Given the description of an element on the screen output the (x, y) to click on. 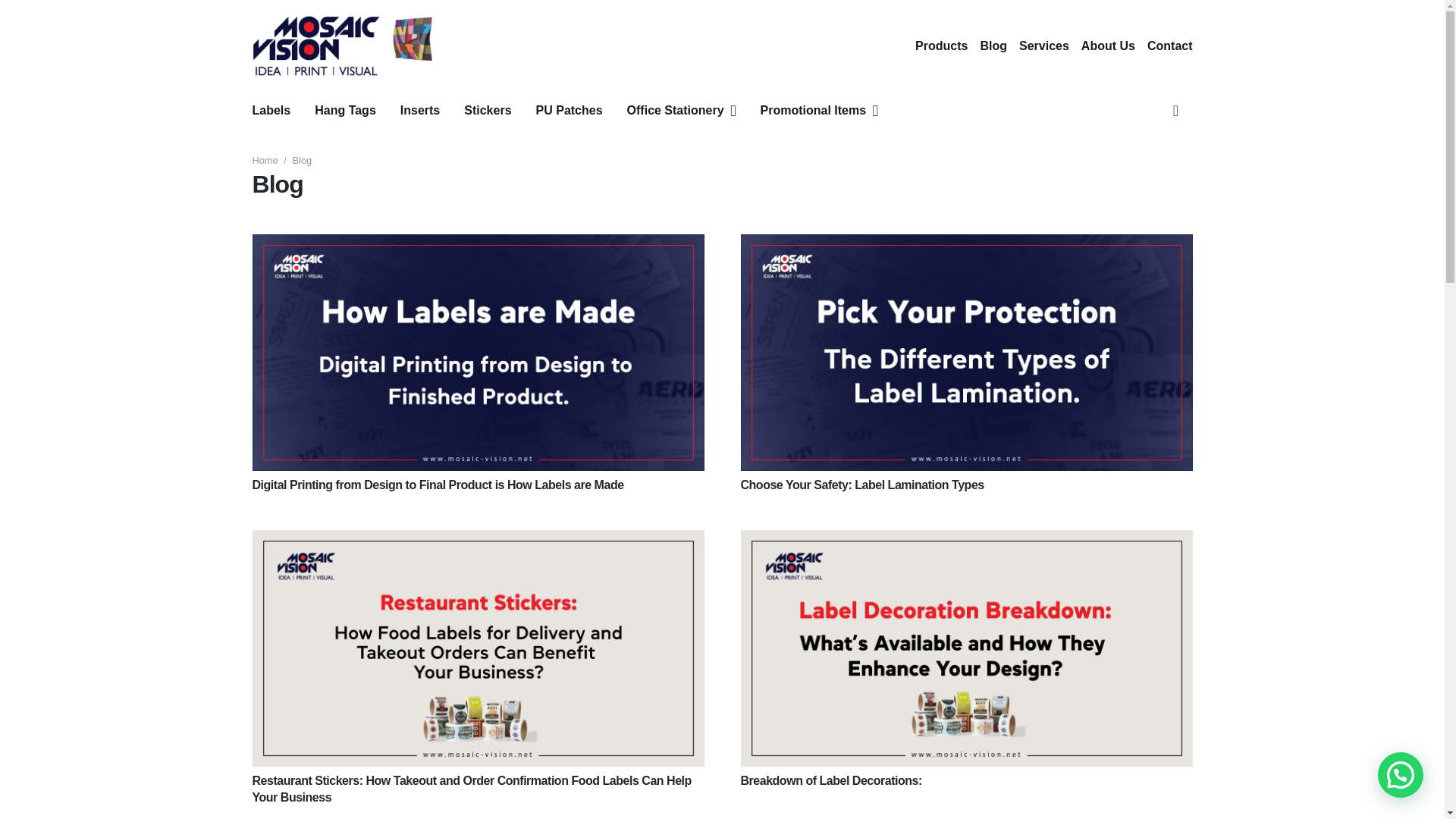
Contact (1169, 45)
Breakdown of Label Decorations: (830, 780)
Home (264, 160)
Inserts (419, 110)
Promotional Items (819, 110)
Office Stationery (681, 110)
Blog (993, 45)
Stickers (486, 110)
